Given the description of an element on the screen output the (x, y) to click on. 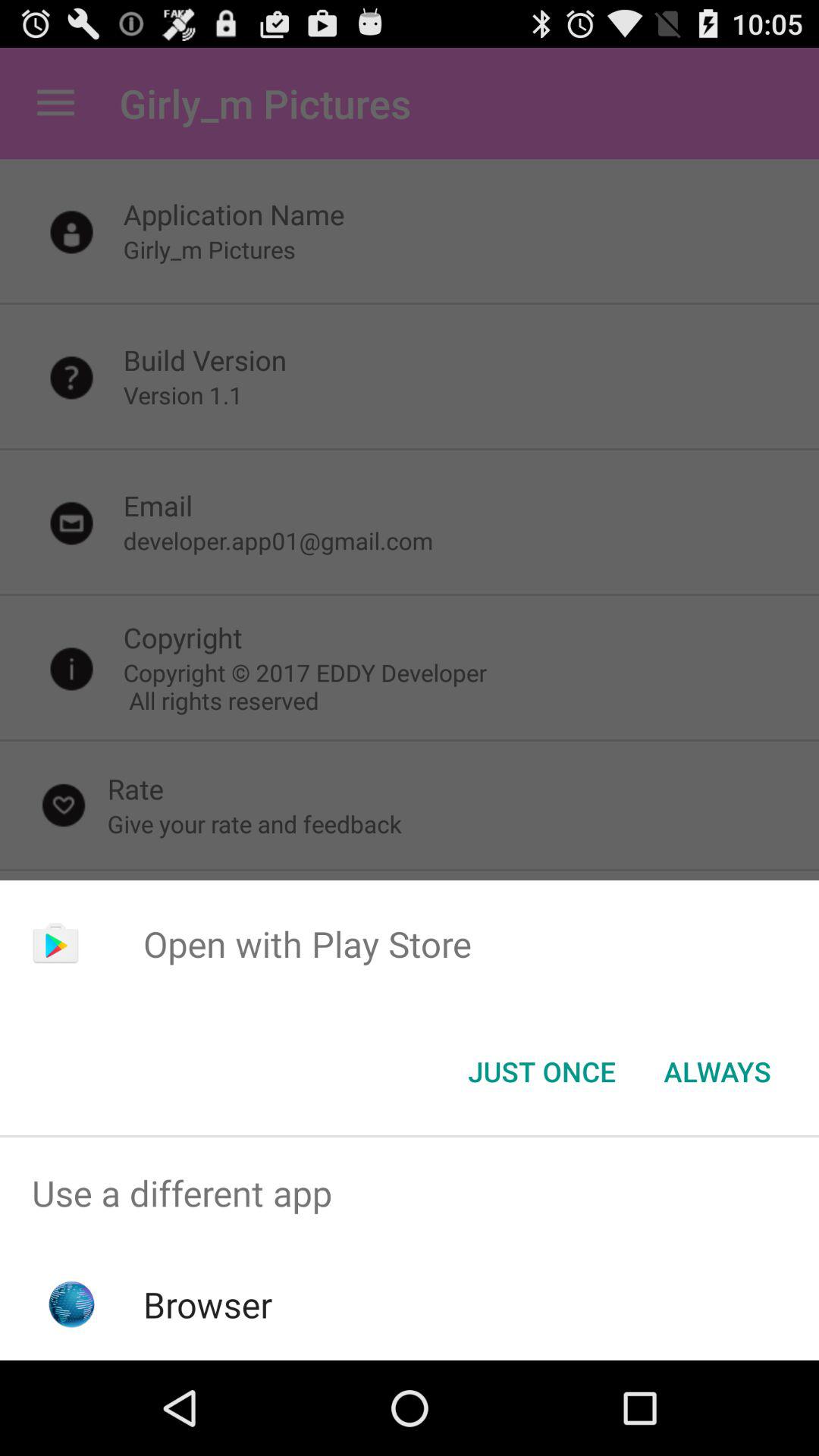
turn off item below the open with play (541, 1071)
